Given the description of an element on the screen output the (x, y) to click on. 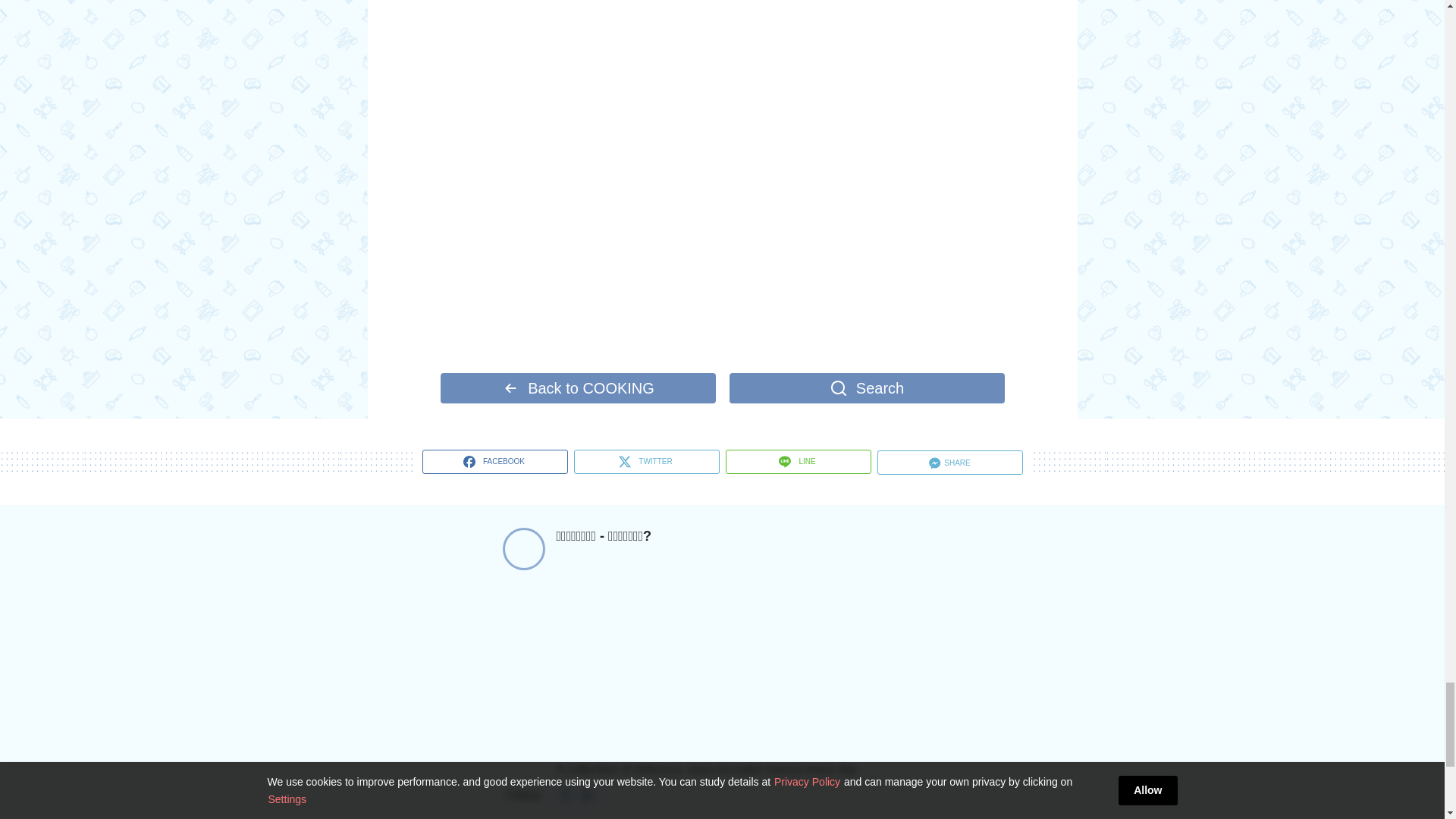
SHARE (949, 463)
FACEBOOK (494, 461)
TWITTER (646, 461)
LINE (797, 461)
Back to COOKING (576, 388)
Search (866, 388)
